Given the description of an element on the screen output the (x, y) to click on. 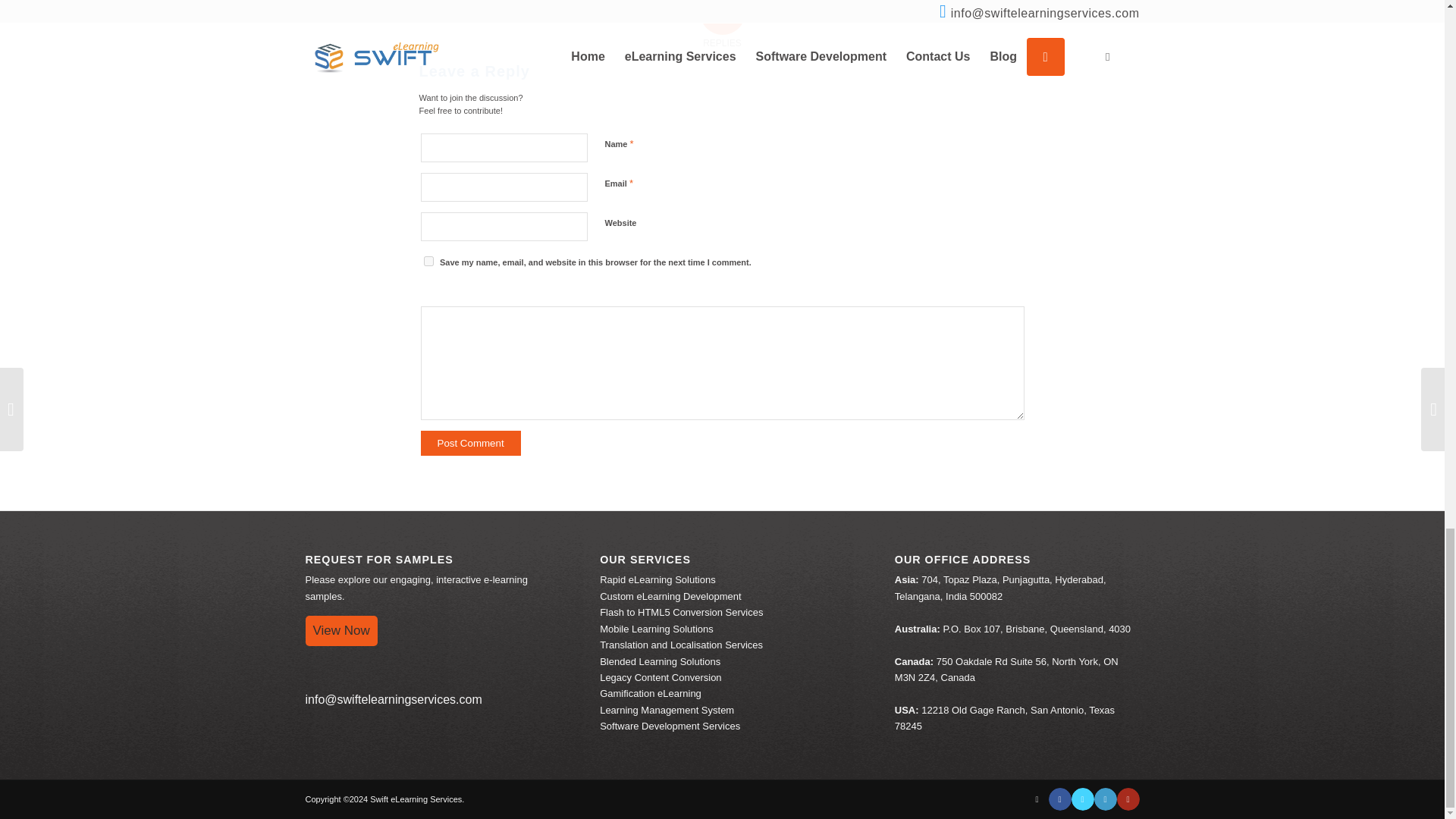
WhatsApp (1036, 798)
Youtube (1127, 798)
Post Comment (469, 442)
Facebook (1059, 798)
yes (427, 261)
LinkedIn (1104, 798)
View Now (340, 630)
Post Comment (469, 442)
Twitter (1081, 798)
